Given the description of an element on the screen output the (x, y) to click on. 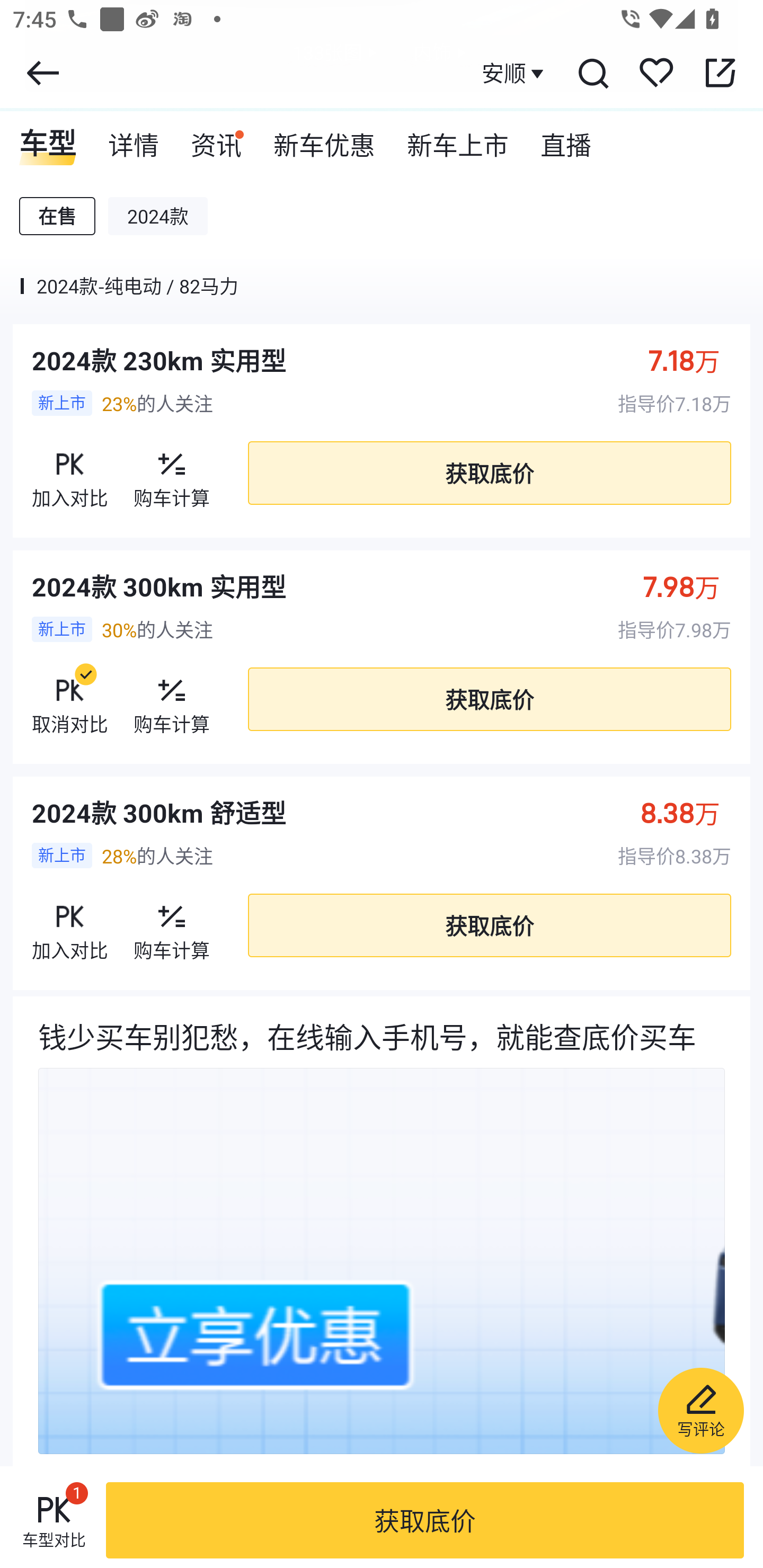
 (42, 72)
 (592, 72)
 (720, 72)
安顺 (514, 73)
车型 (47, 138)
详情 (133, 138)
资讯 (215, 138)
新车优惠 (324, 138)
新车上市 (457, 138)
直播 (565, 138)
在售 (57, 216)
2024款 (157, 216)
7.18 万 (693, 360)
加入对比 (70, 473)
 购车计算 (171, 473)
获取底价 (489, 472)
7.98 万 (690, 586)
取消对比 (70, 698)
 购车计算 (171, 698)
获取底价 (489, 699)
8.38 万 (689, 811)
加入对比 (70, 924)
 购车计算 (171, 924)
获取底价 (489, 925)
钱少买车别犯愁，在线输入手机号，就能查底价买车 (381, 1230)
写评论 (700, 1410)
车型对比 (53, 1520)
获取底价 (424, 1519)
